Given the description of an element on the screen output the (x, y) to click on. 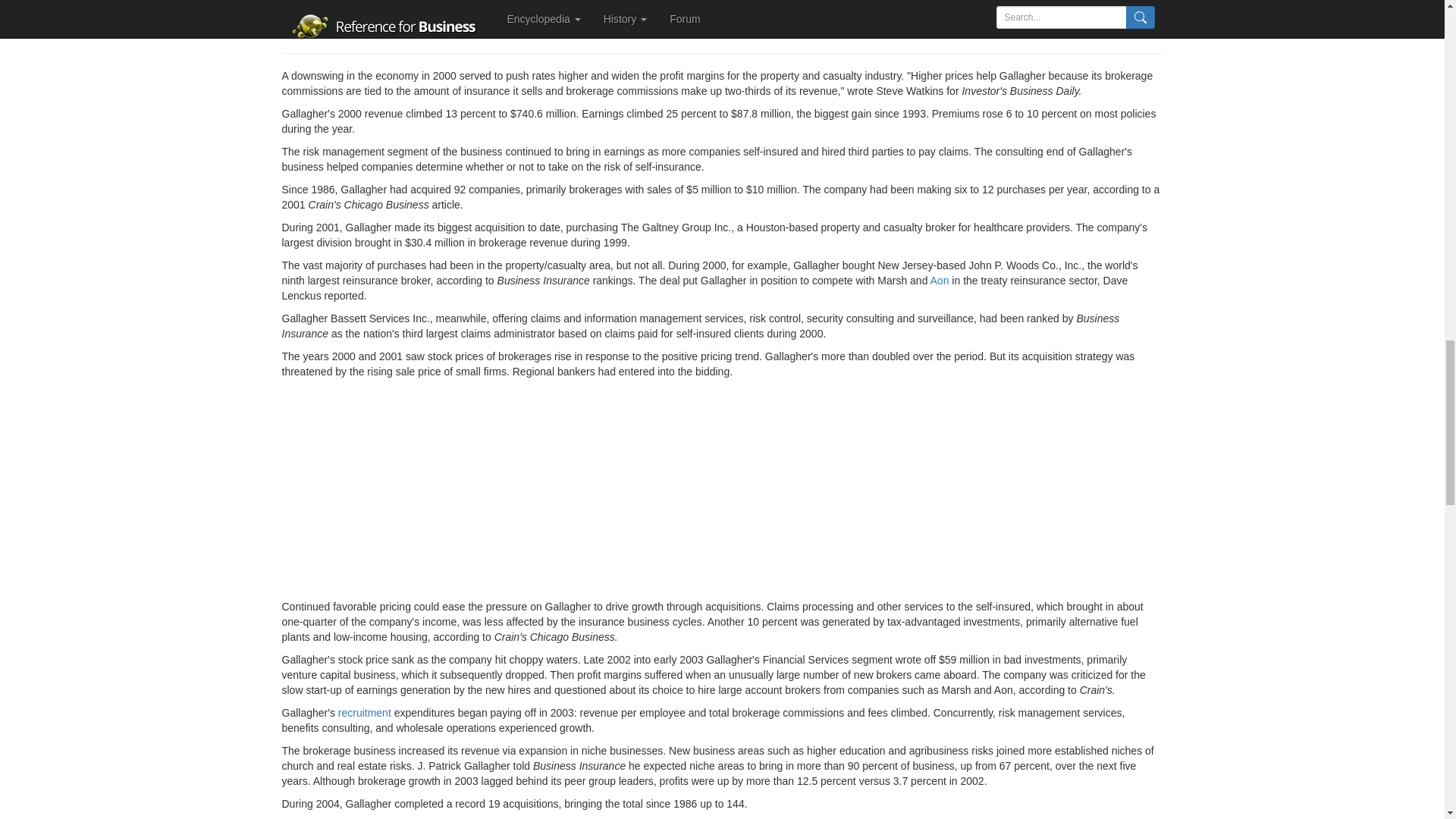
recruitment (364, 712)
View 'aon' definition from Wikipedia (939, 280)
View 'recruitment' definition from Wikipedia (364, 712)
Aon (939, 280)
